Given the description of an element on the screen output the (x, y) to click on. 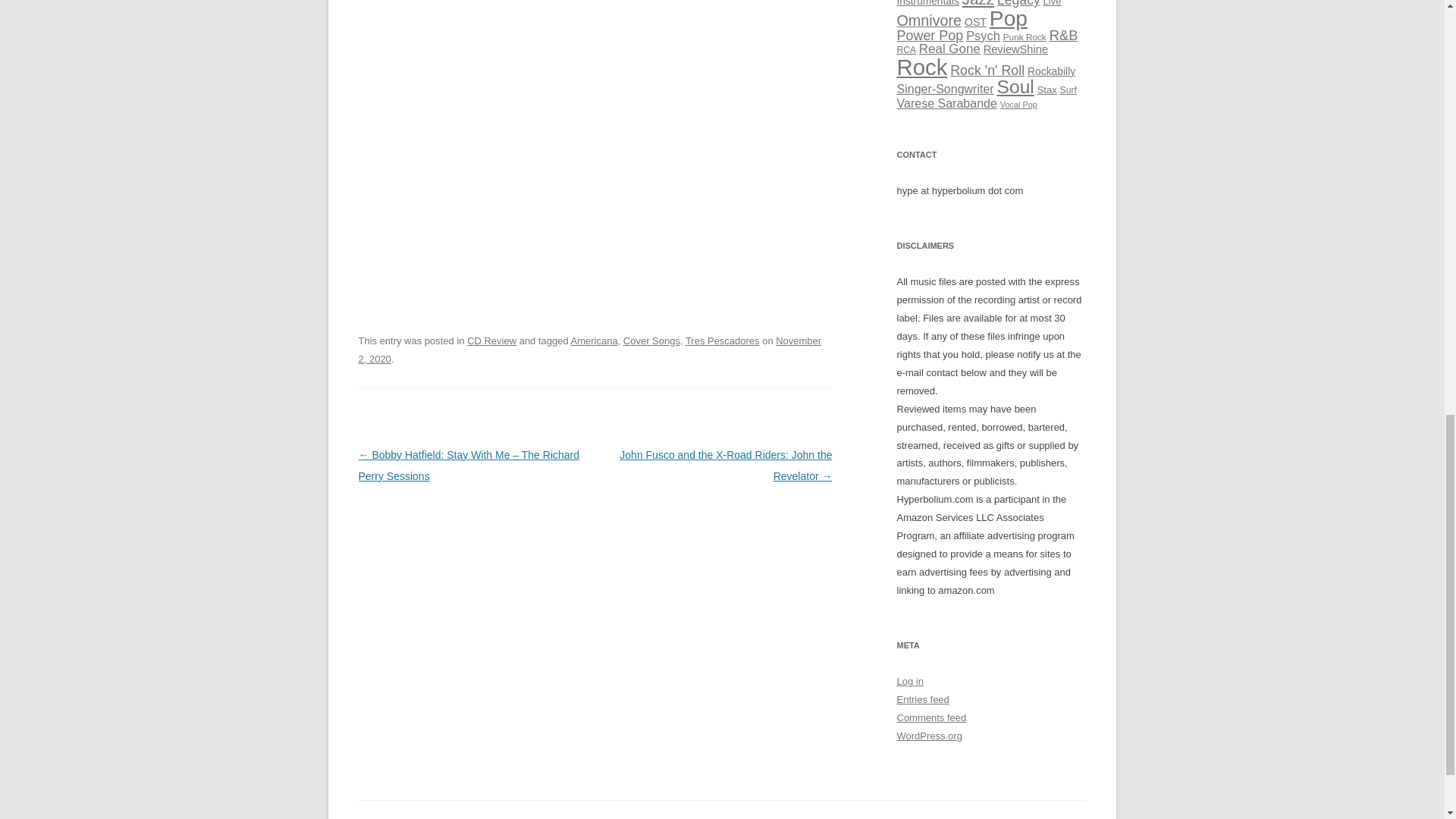
5:10 pm (589, 349)
November 2, 2020 (589, 349)
Cover Songs (651, 340)
Tres Pescadores (722, 340)
CD Review (491, 340)
Americana (593, 340)
